Given the description of an element on the screen output the (x, y) to click on. 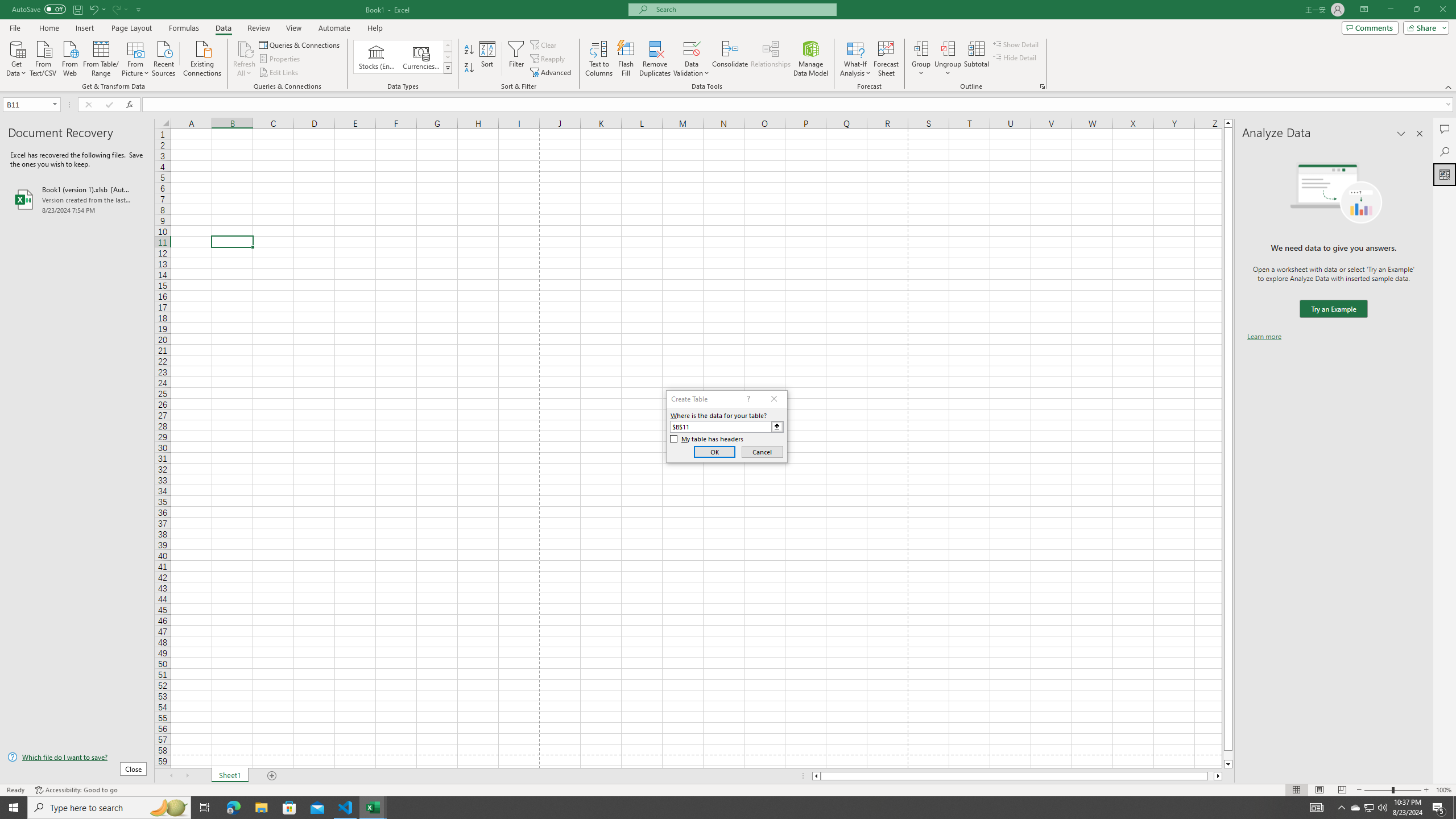
Flash Fill (625, 58)
Subtotal (976, 58)
Filter (515, 58)
Clear (544, 44)
Microsoft search (742, 9)
Row Down (448, 56)
Learn more (1264, 336)
Book1 (version 1).xlsb  [AutoRecovered] (77, 199)
Group... (921, 58)
